Given the description of an element on the screen output the (x, y) to click on. 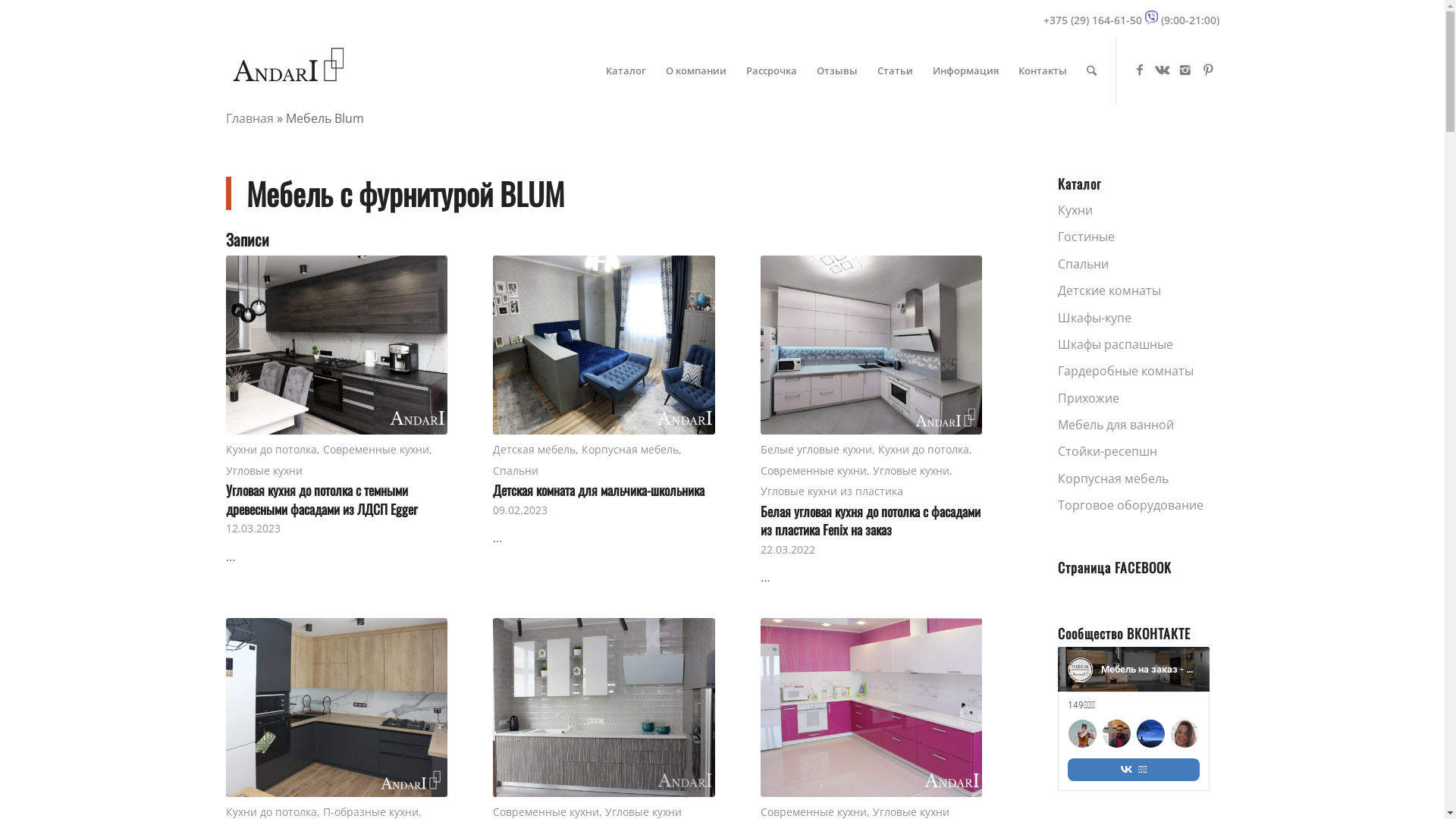
Vk Element type: hover (1162, 69)
Pinterest Element type: hover (1207, 69)
Facebook Element type: hover (1139, 69)
Instagram Element type: hover (1184, 69)
+375 (29) 164-61-50 (9:00-21:00) Element type: text (1131, 19)
